Given the description of an element on the screen output the (x, y) to click on. 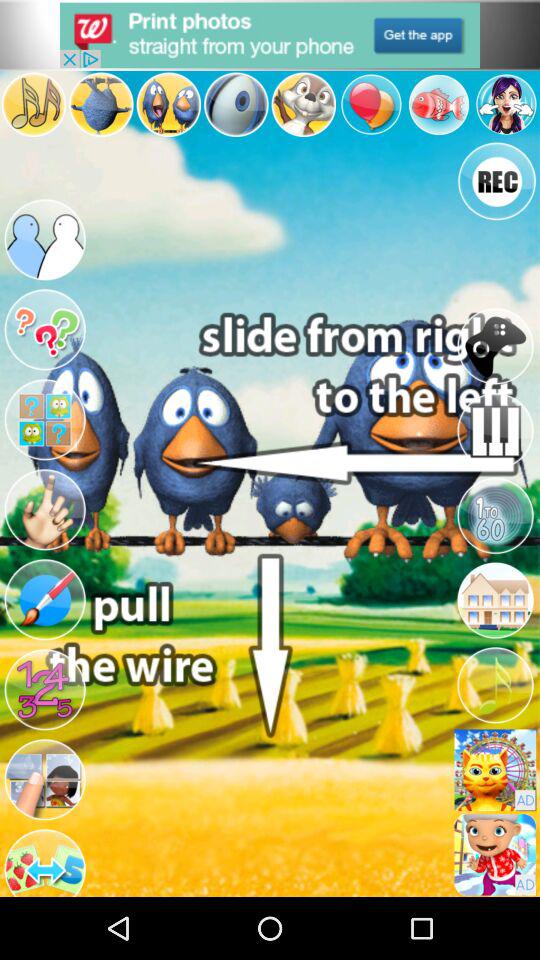
open an advertisement (495, 854)
